Given the description of an element on the screen output the (x, y) to click on. 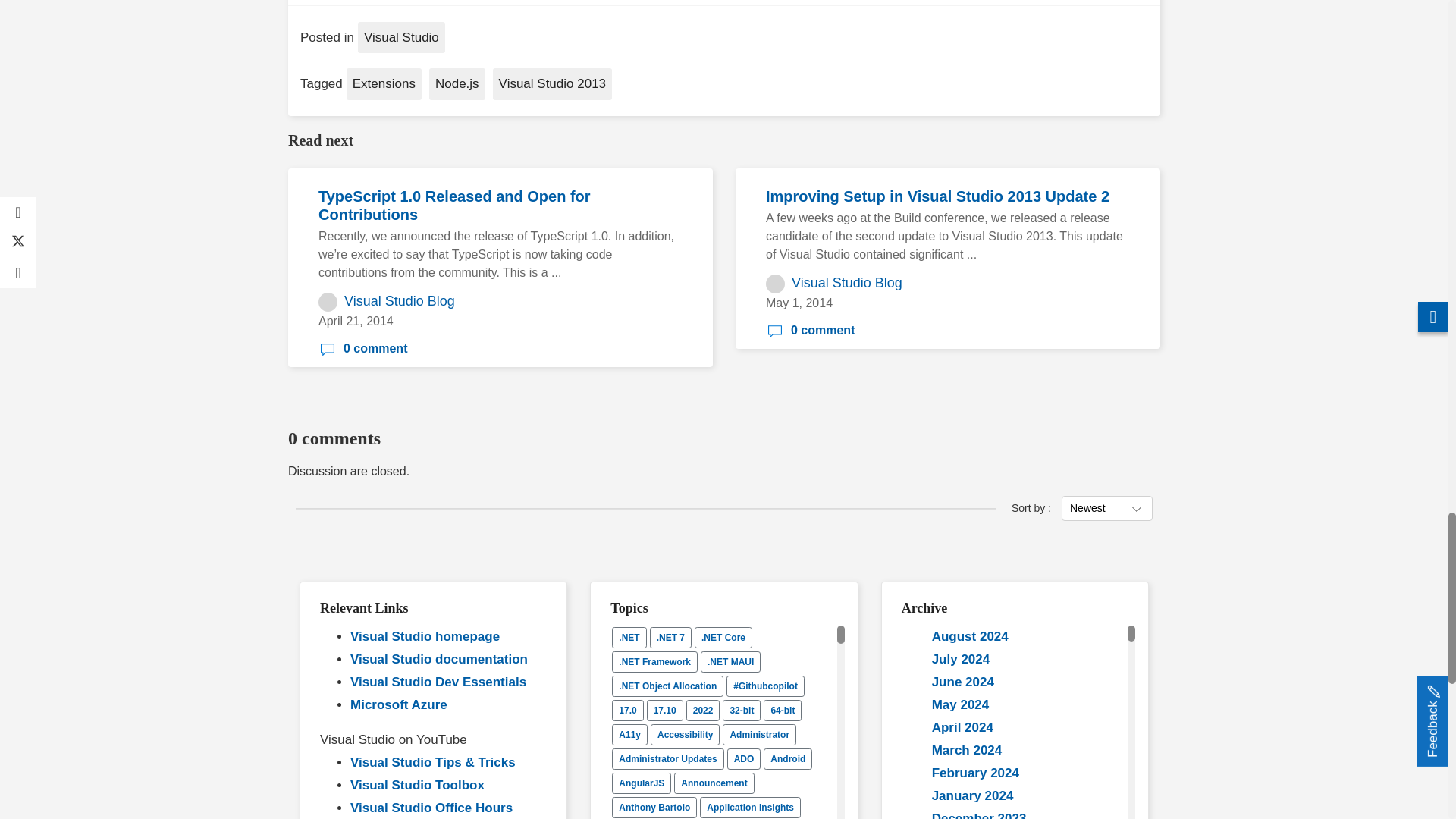
View all posts in .NET 7 (670, 637)
View all posts in .NET (628, 637)
View all posts in .NET Framework (654, 661)
View all posts in .NET Core (723, 637)
